Given the description of an element on the screen output the (x, y) to click on. 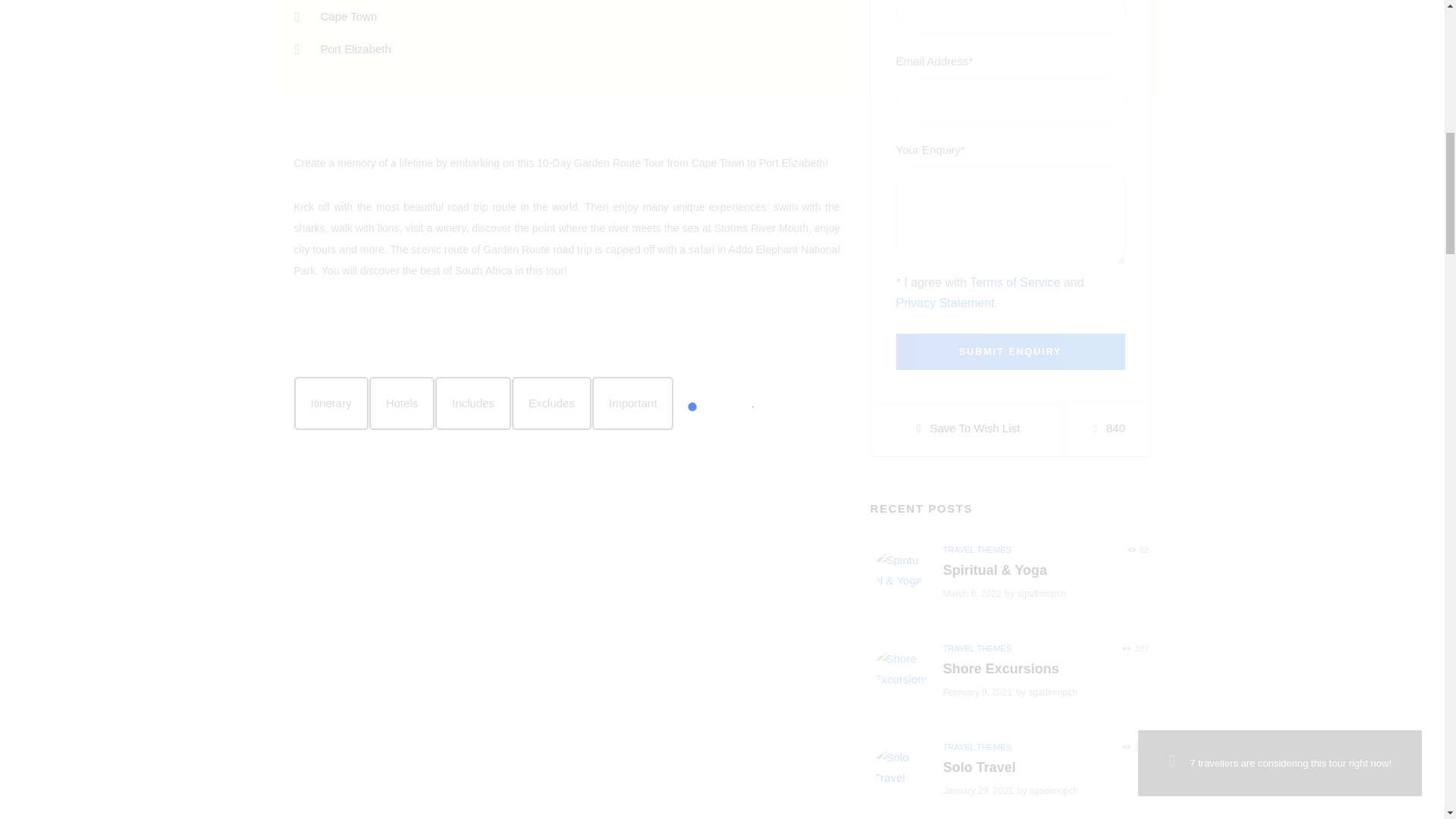
Solo Travel 3 (899, 766)
Submit Enquiry (1010, 352)
View all posts in Travel Themes (977, 647)
Shore Excursions 2 (901, 668)
View all posts in Travel Themes (977, 746)
on (900, 276)
View all posts in Travel Themes (977, 549)
